Given the description of an element on the screen output the (x, y) to click on. 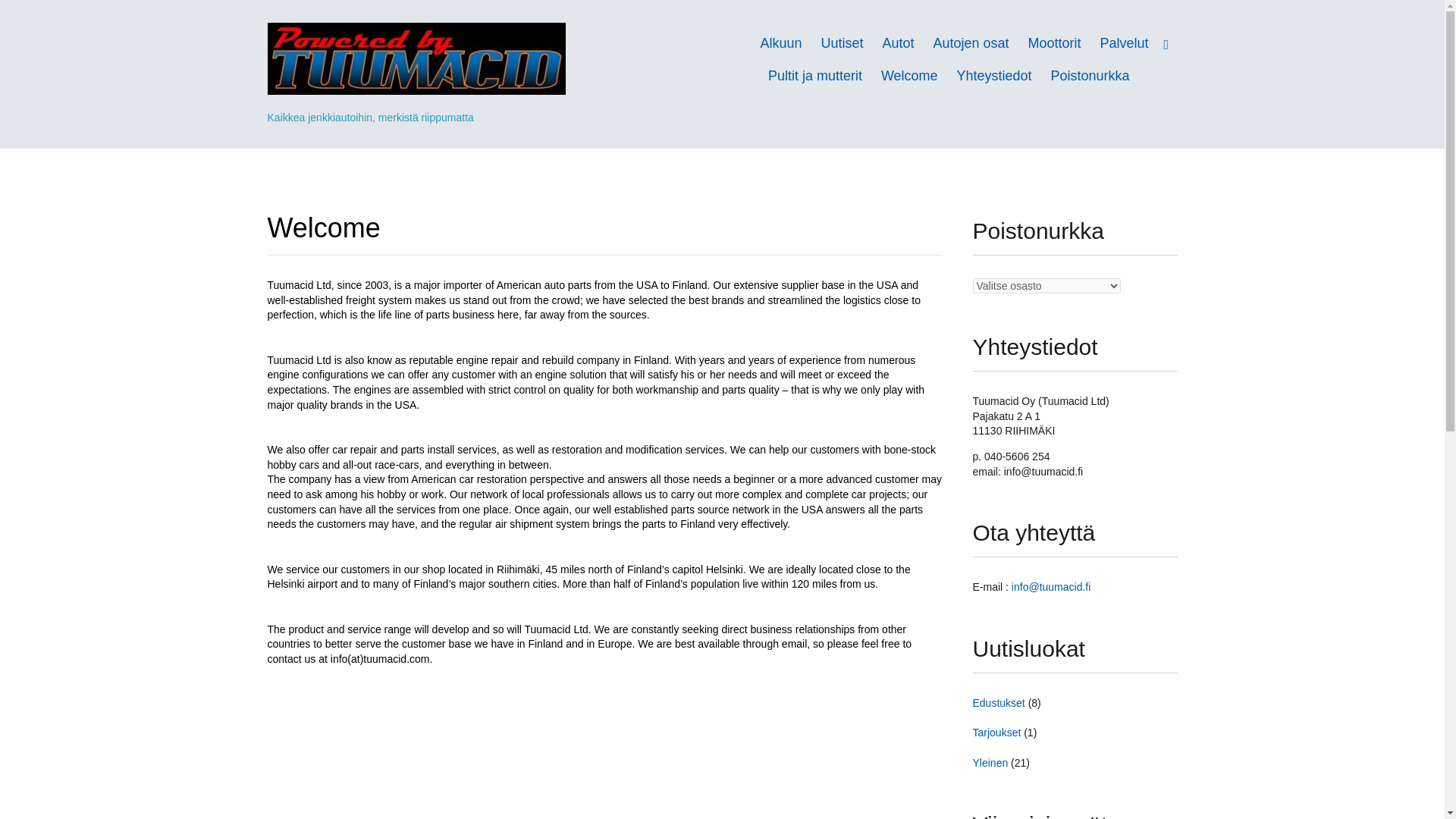
Pultit ja mutterit (814, 75)
Tarjoukset (996, 732)
Autot (898, 43)
Alkuun (781, 43)
Yhteystiedot (994, 75)
Moottorit (1054, 43)
Uutiset (842, 43)
Poistonurkka (1090, 75)
Yleinen (989, 762)
Palvelut (1124, 43)
